Given the description of an element on the screen output the (x, y) to click on. 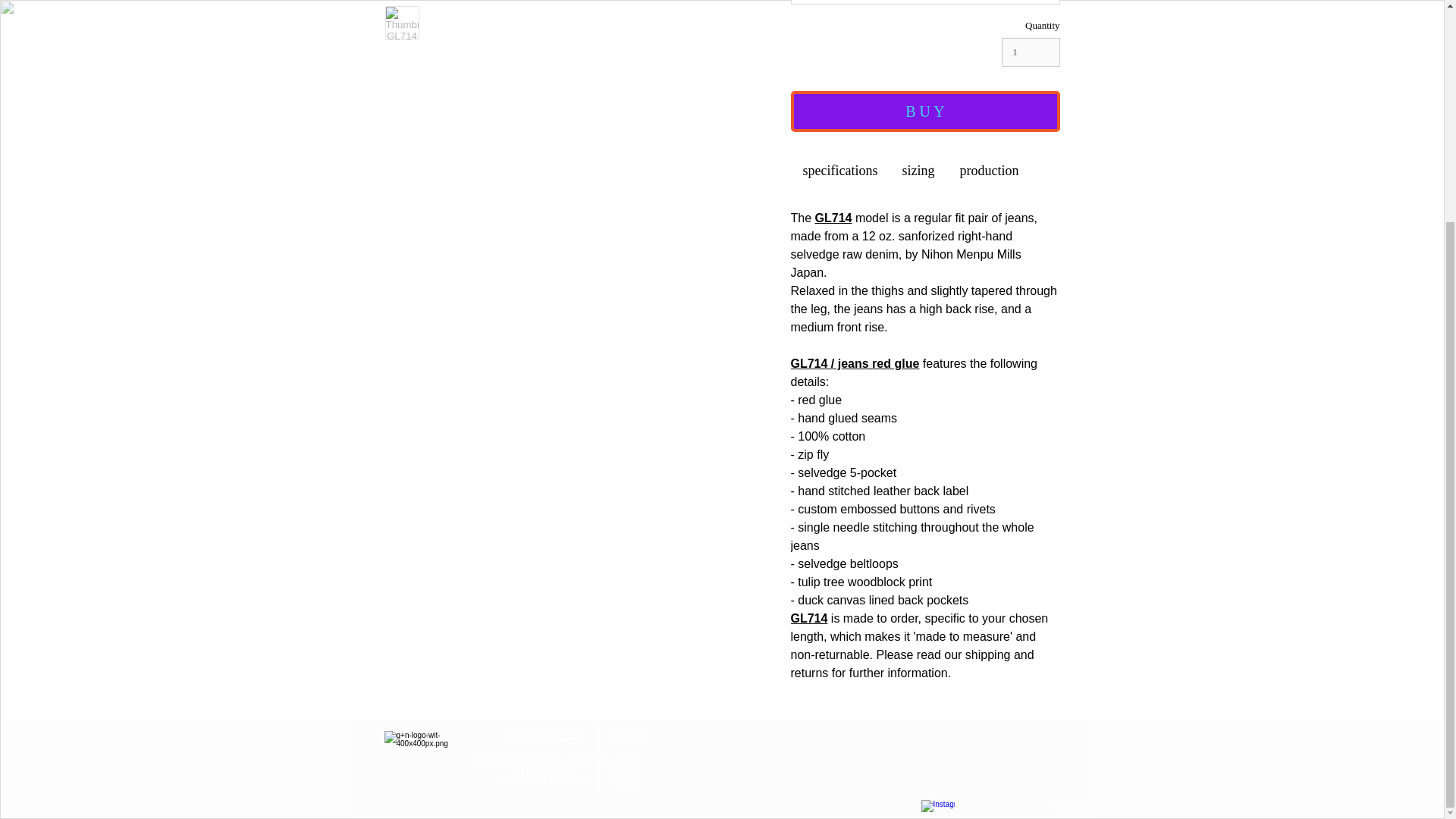
Use right and left arrows to navigate between tabs (989, 170)
B U Y (924, 110)
1 (1030, 51)
Use right and left arrows to navigate between tabs (917, 170)
Select (924, 2)
ABOUT (626, 735)
Use right and left arrows to navigate between tabs (840, 170)
